Given the description of an element on the screen output the (x, y) to click on. 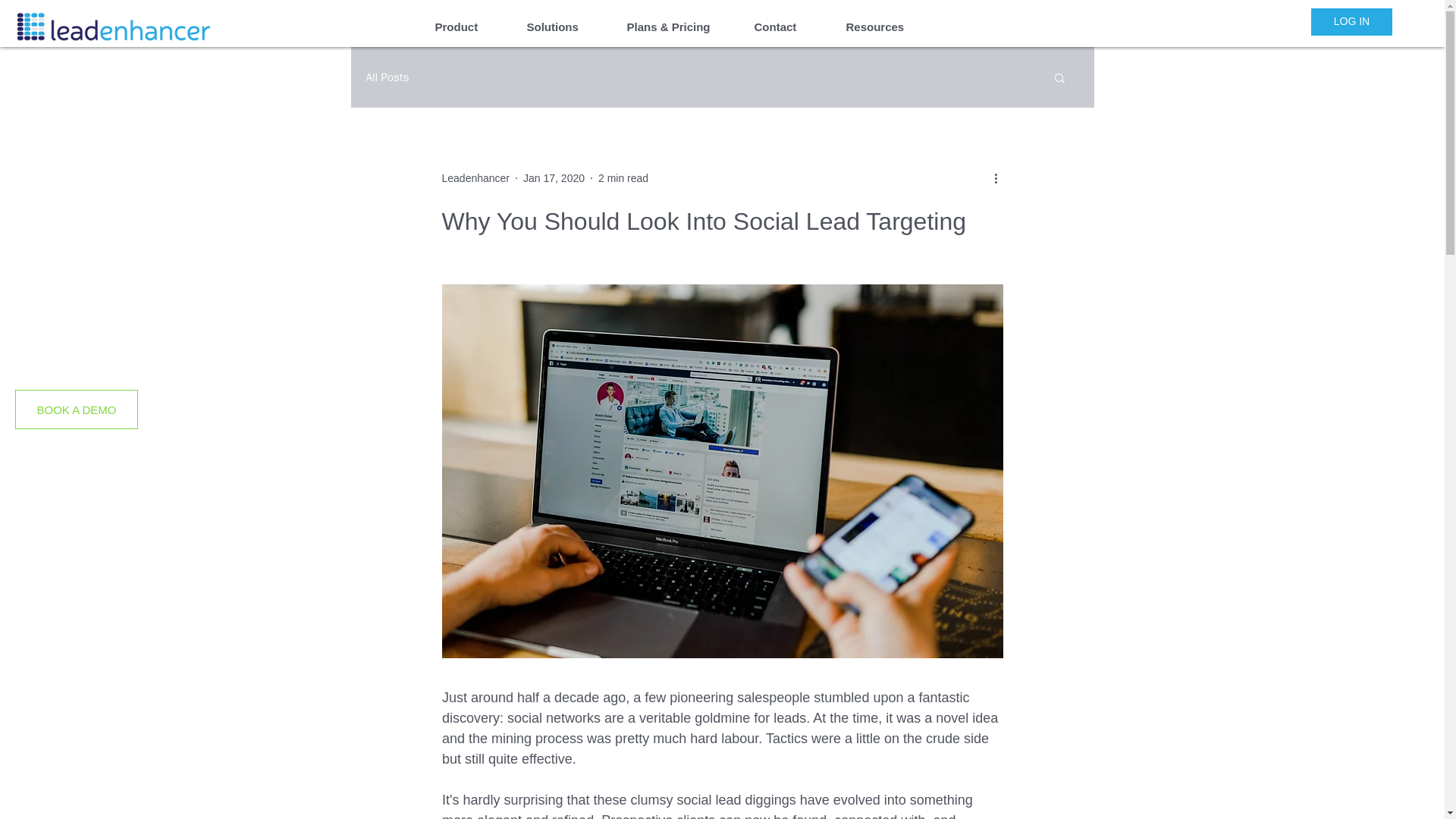
Product (469, 27)
Resources (886, 27)
BOOK A DEMO (76, 409)
Jan 17, 2020 (553, 177)
Contact (788, 27)
Leadenhancer (475, 177)
2 min read (622, 177)
All Posts (387, 76)
LOG IN (1351, 22)
Leadenhancer (475, 177)
